Given the description of an element on the screen output the (x, y) to click on. 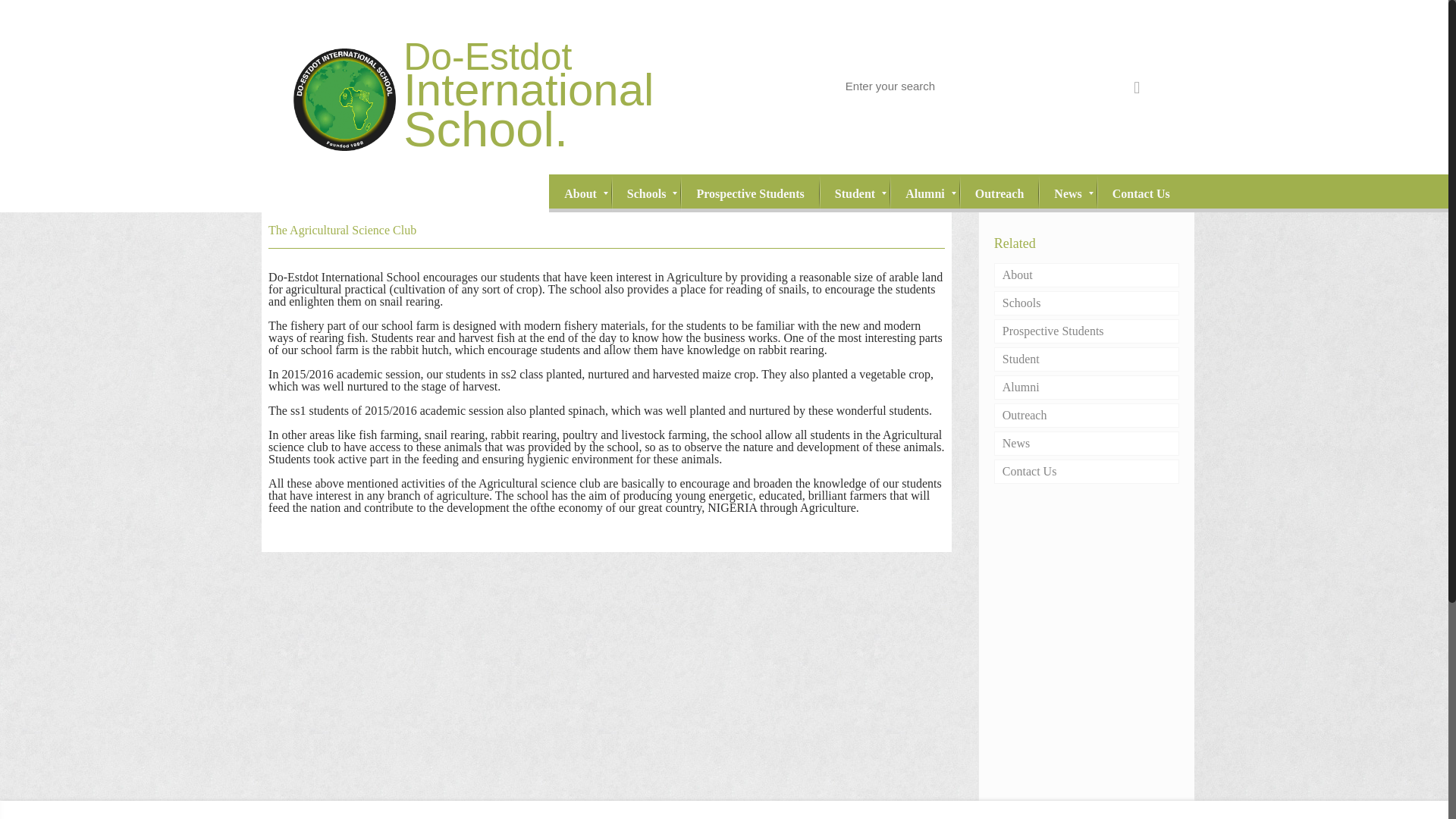
Schools (646, 193)
Do-Estdot International School (504, 85)
About (504, 85)
